Given the description of an element on the screen output the (x, y) to click on. 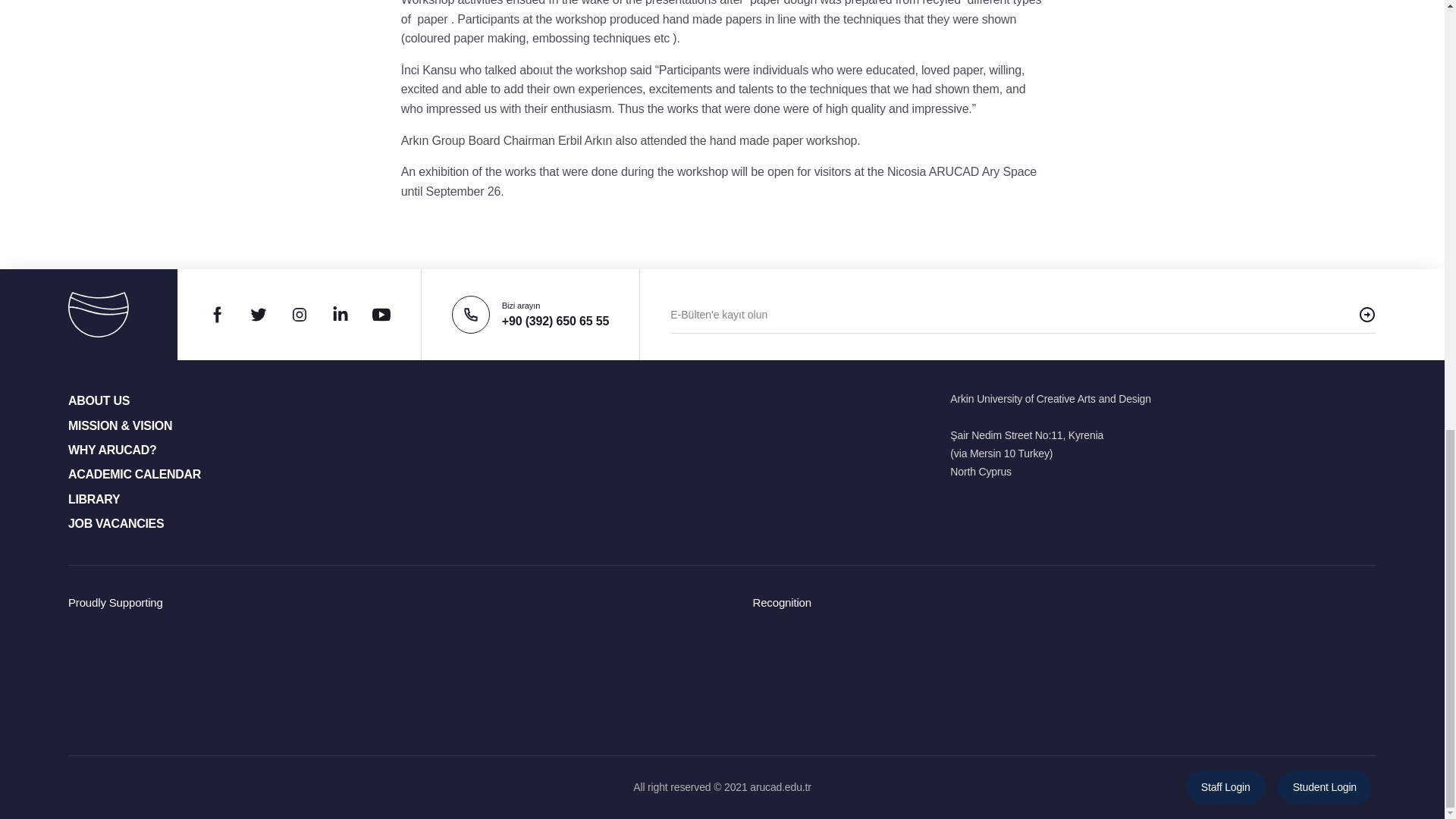
ACADEMIC CALENDAR (134, 473)
LIBRARY (93, 499)
JOB VACANCIES (115, 522)
ABOUT US (98, 400)
WHY ARUCAD? (111, 449)
arucad.edu.tr (779, 787)
